Given the description of an element on the screen output the (x, y) to click on. 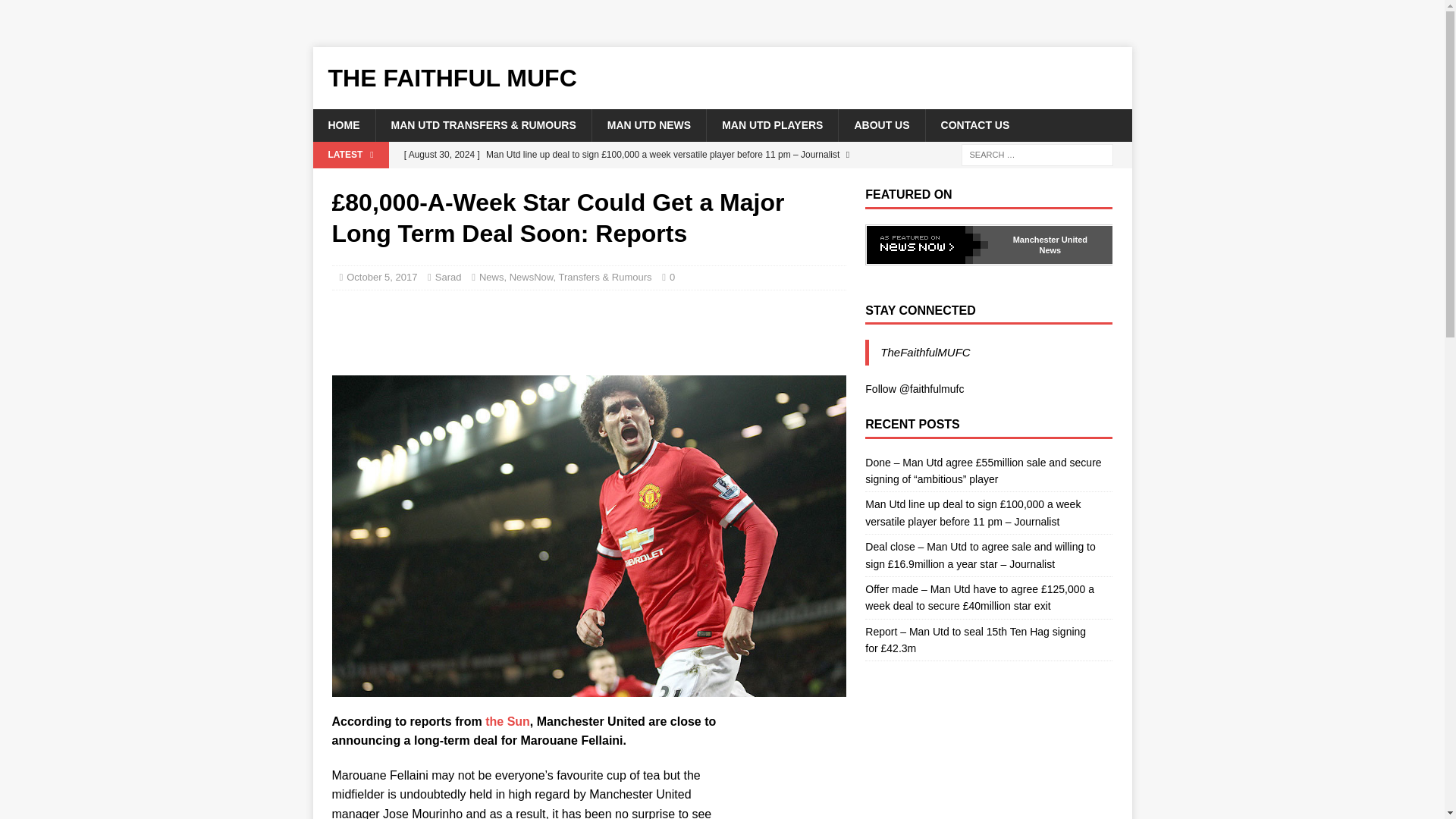
The Faithful MUFC (721, 78)
October 5, 2017 (381, 276)
THE FAITHFUL MUFC (721, 78)
HOME (343, 124)
TheFaithfulMUFC (924, 351)
Manchester United News (1050, 244)
Click here for more Manchester United news from NewsNow (927, 244)
Click here for more Manchester United news from NewsNow (1050, 244)
MAN UTD NEWS (648, 124)
ABOUT US (881, 124)
